Given the description of an element on the screen output the (x, y) to click on. 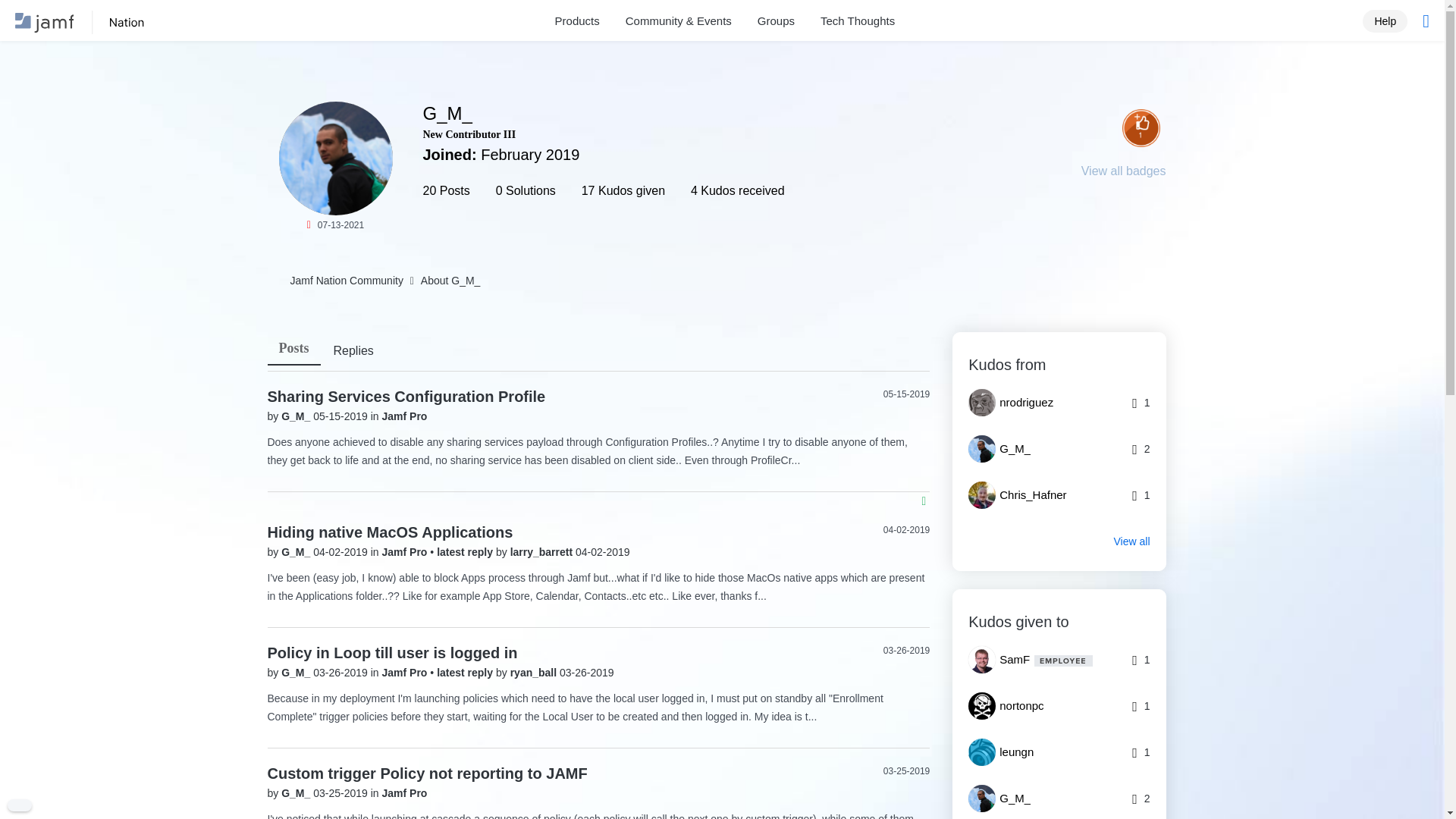
Jamf Pro (404, 793)
Jamf Nation Community (346, 280)
04-02-2019 06:47 AM 04-02-2019 06:47 AM (906, 529)
View post (466, 551)
View profile (543, 551)
Sharing Services Configuration Profile (405, 396)
Kudos Received (1141, 127)
Replies (352, 351)
View all badges (1123, 170)
Help (1384, 20)
View profile (297, 551)
Jamf Pro (405, 551)
Hiding native MacOS Applications (389, 532)
latest reply (466, 672)
Products (576, 21)
